Given the description of an element on the screen output the (x, y) to click on. 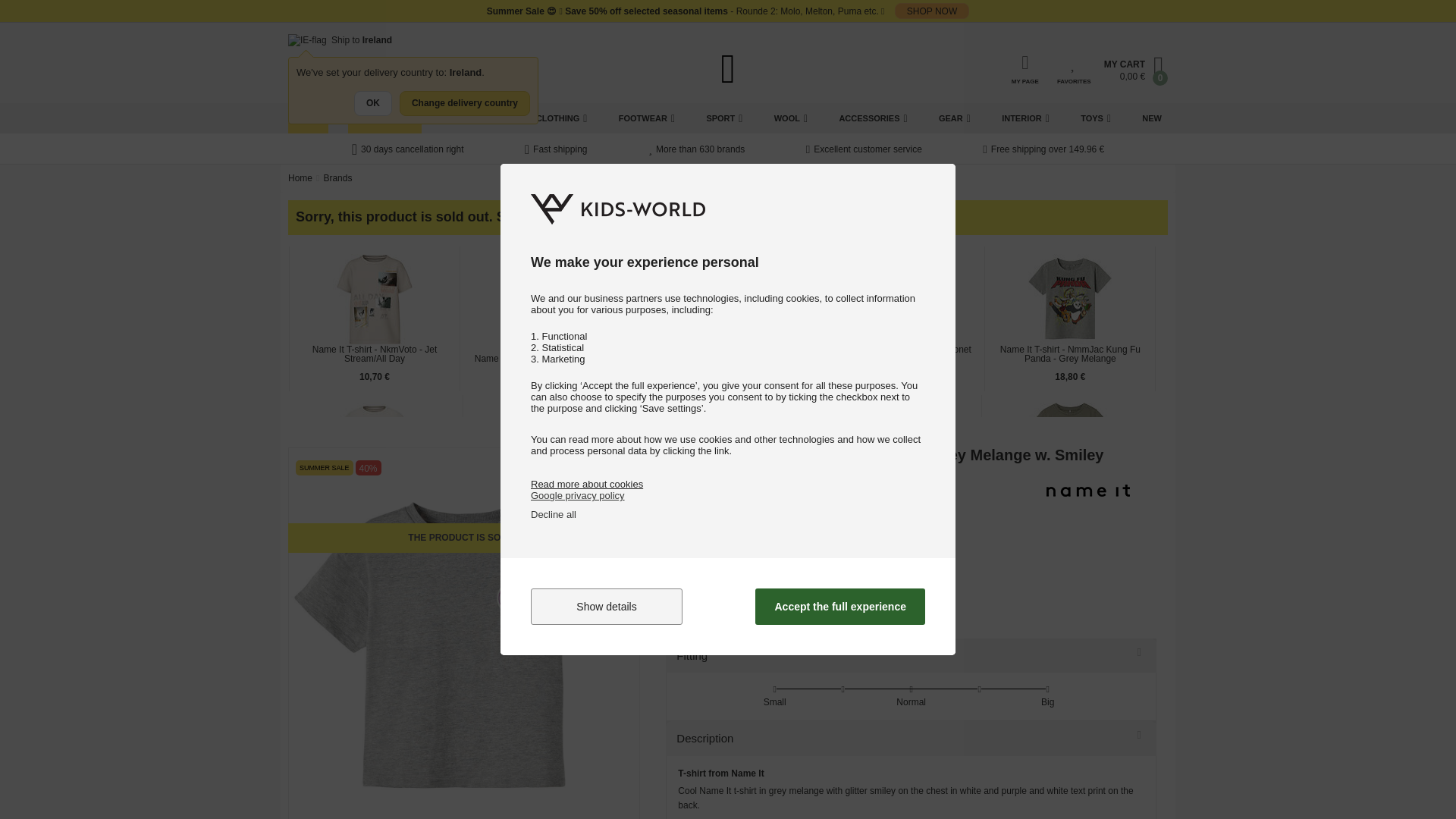
Show details (606, 606)
Read more about cookies (587, 483)
Google privacy policy (577, 495)
Accept the full experience (839, 606)
Decline all (553, 514)
